Given the description of an element on the screen output the (x, y) to click on. 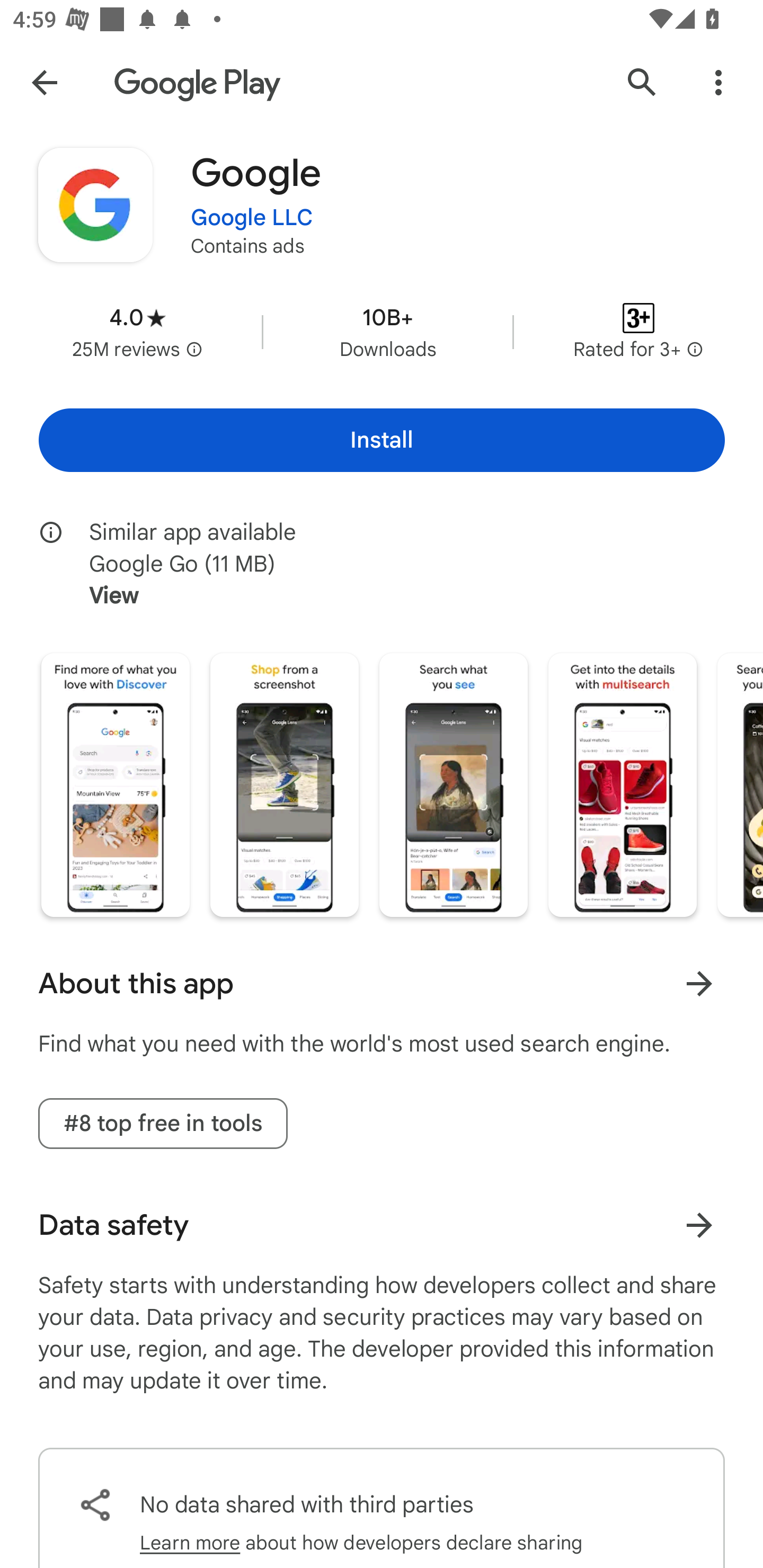
Navigate up (44, 81)
Search Google Play (642, 81)
More Options (718, 81)
Google LLC (251, 217)
Average rating 4.0 stars in 25 million reviews (137, 331)
Content rating Rated for 3+ (638, 331)
Install (381, 439)
Similar app available
Google Go (11 MB)
View (394, 563)
Screenshot "1" of "5" (115, 785)
Screenshot "2" of "5" (284, 785)
Screenshot "3" of "5" (453, 785)
Screenshot "4" of "5" (622, 785)
About this app Learn more About this app (381, 983)
Learn more About this app (699, 983)
#8 top free in tools tag (162, 1123)
Data safety Learn more about data safety (381, 1225)
Learn more about data safety (699, 1224)
Learn more about how developers declare sharing (361, 1536)
